Given the description of an element on the screen output the (x, y) to click on. 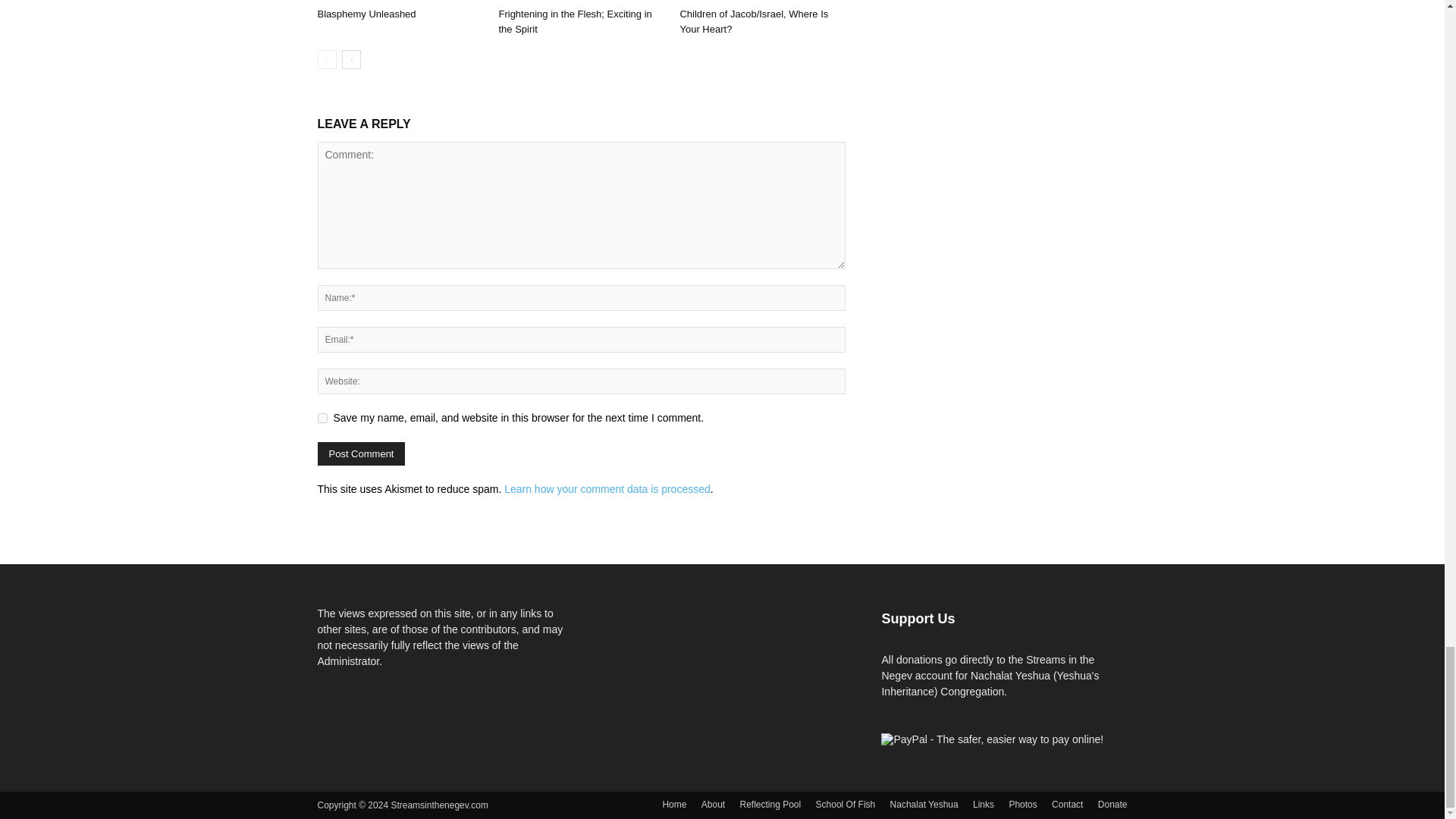
Blasphemy Unleashed (365, 13)
yes (321, 418)
Post Comment (360, 454)
